Given the description of an element on the screen output the (x, y) to click on. 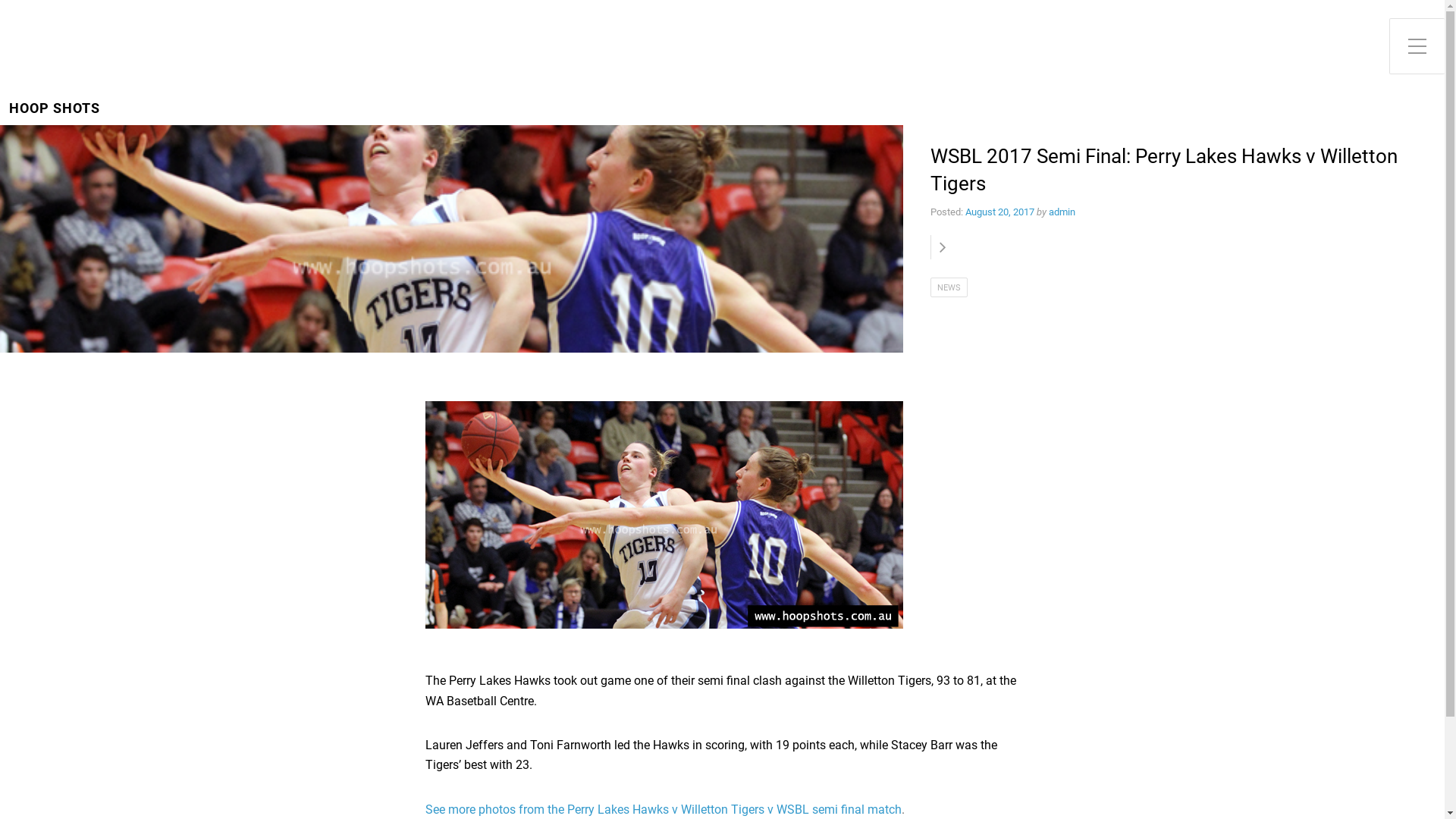
August 20, 2017 Element type: text (999, 211)
HOOP SHOTS Element type: text (54, 108)
Toggle Side Menu Element type: text (1417, 45)
NEWS Element type: text (948, 287)
admin Element type: text (1061, 211)
